Given the description of an element on the screen output the (x, y) to click on. 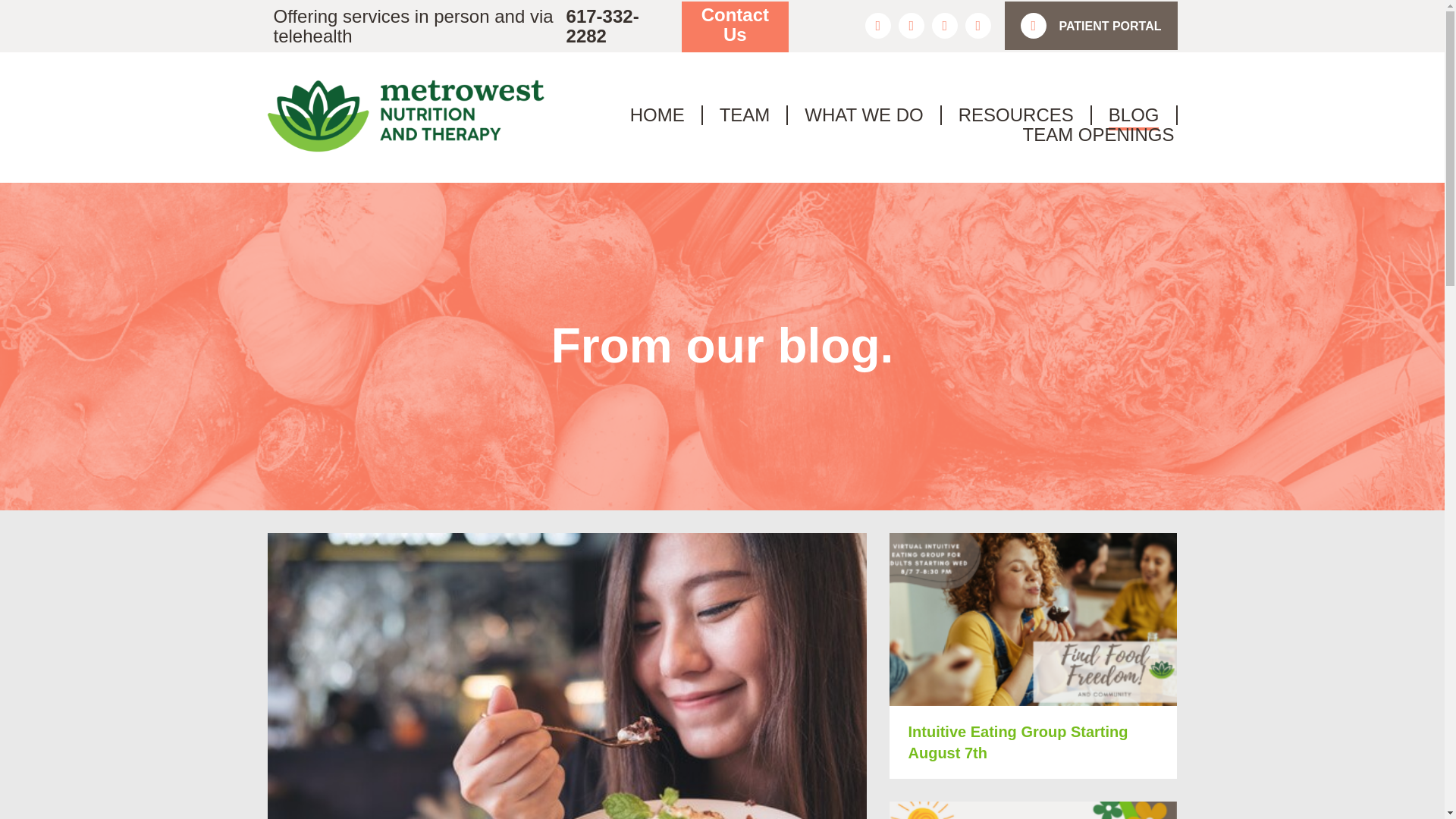
HOME (657, 115)
TEAM OPENINGS (1097, 134)
RESOURCES (1016, 115)
617-332-2282 (610, 26)
Metrowest Nutrition and Therapy (410, 115)
PATIENT PORTAL (1090, 25)
BLOG (1133, 115)
Contact Us (735, 26)
WHAT WE DO (864, 115)
Intuitive Eating Group Starting August 7th (1018, 742)
